Given the description of an element on the screen output the (x, y) to click on. 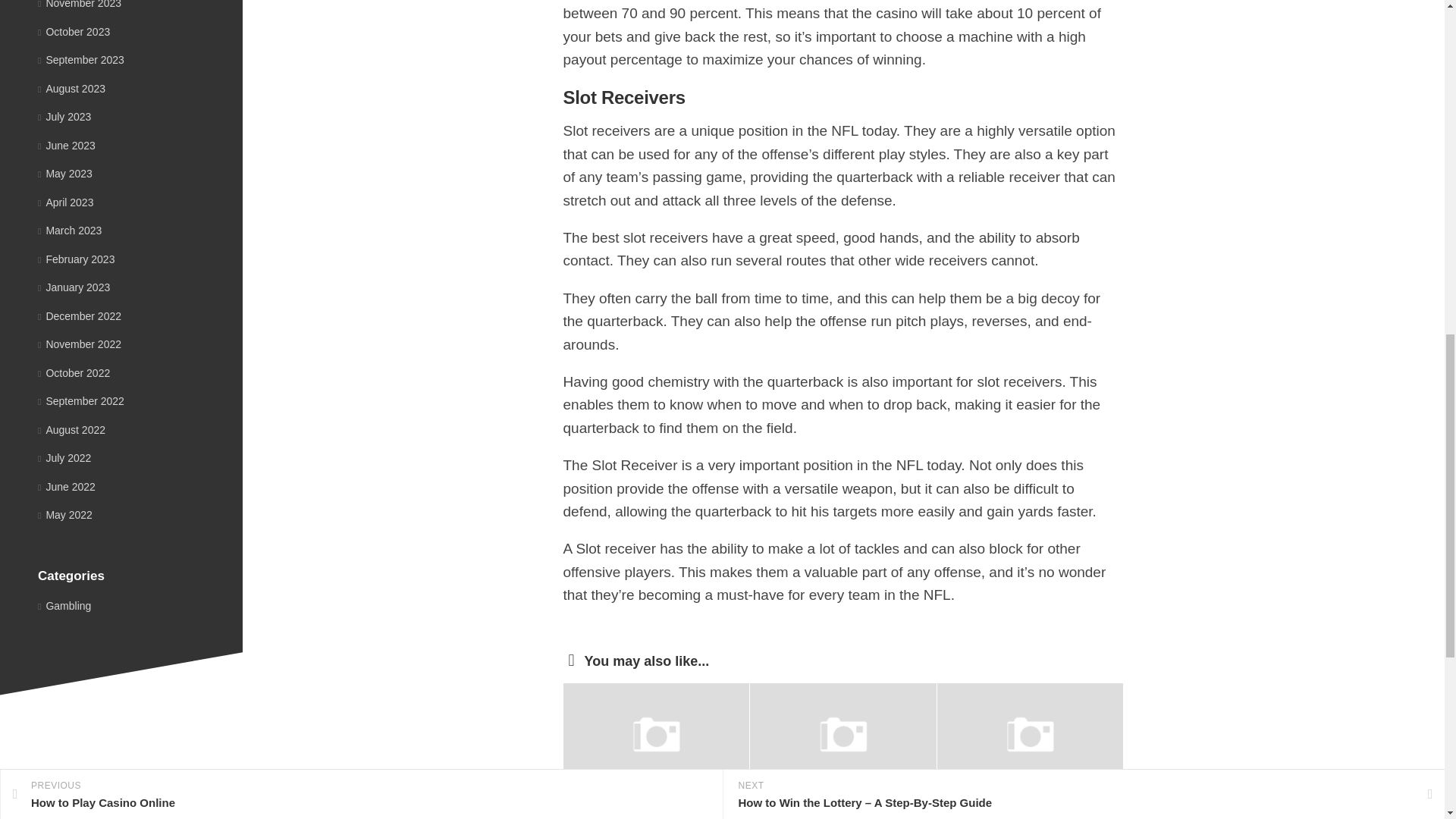
February 2023 (76, 259)
How to Choose a Sportsbook (646, 811)
September 2023 (80, 60)
August 2023 (70, 87)
June 2023 (66, 145)
October 2023 (73, 31)
October 2022 (73, 372)
November 2022 (78, 344)
January 2023 (73, 287)
Panduan Bermain Bola Online Judi untuk Pemula (1010, 811)
May 2023 (65, 173)
The Importance of Playing Slot Online (824, 811)
April 2023 (65, 201)
July 2023 (63, 116)
March 2023 (69, 230)
